Given the description of an element on the screen output the (x, y) to click on. 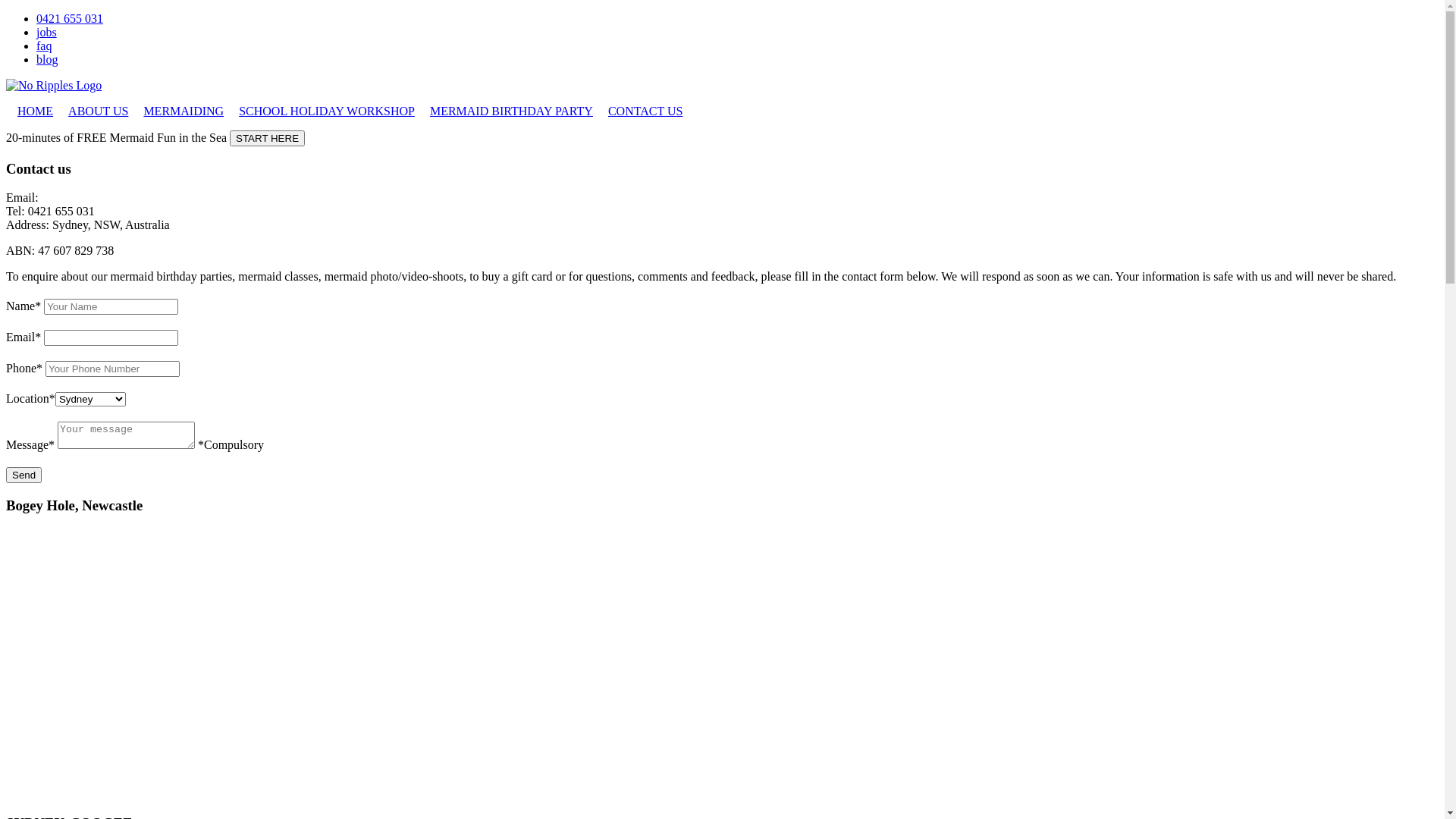
faq Element type: text (43, 45)
Send Element type: text (23, 475)
0421 655 031 Element type: text (69, 18)
HOME Element type: text (34, 110)
SCHOOL HOLIDAY WORKSHOP Element type: text (326, 110)
MERMAID BIRTHDAY PARTY Element type: text (511, 110)
jobs Element type: text (46, 31)
ABOUT US Element type: text (97, 110)
blog Element type: text (46, 59)
START HERE Element type: text (266, 138)
MERMAIDING Element type: text (183, 110)
CONTACT US Element type: text (645, 110)
